Given the description of an element on the screen output the (x, y) to click on. 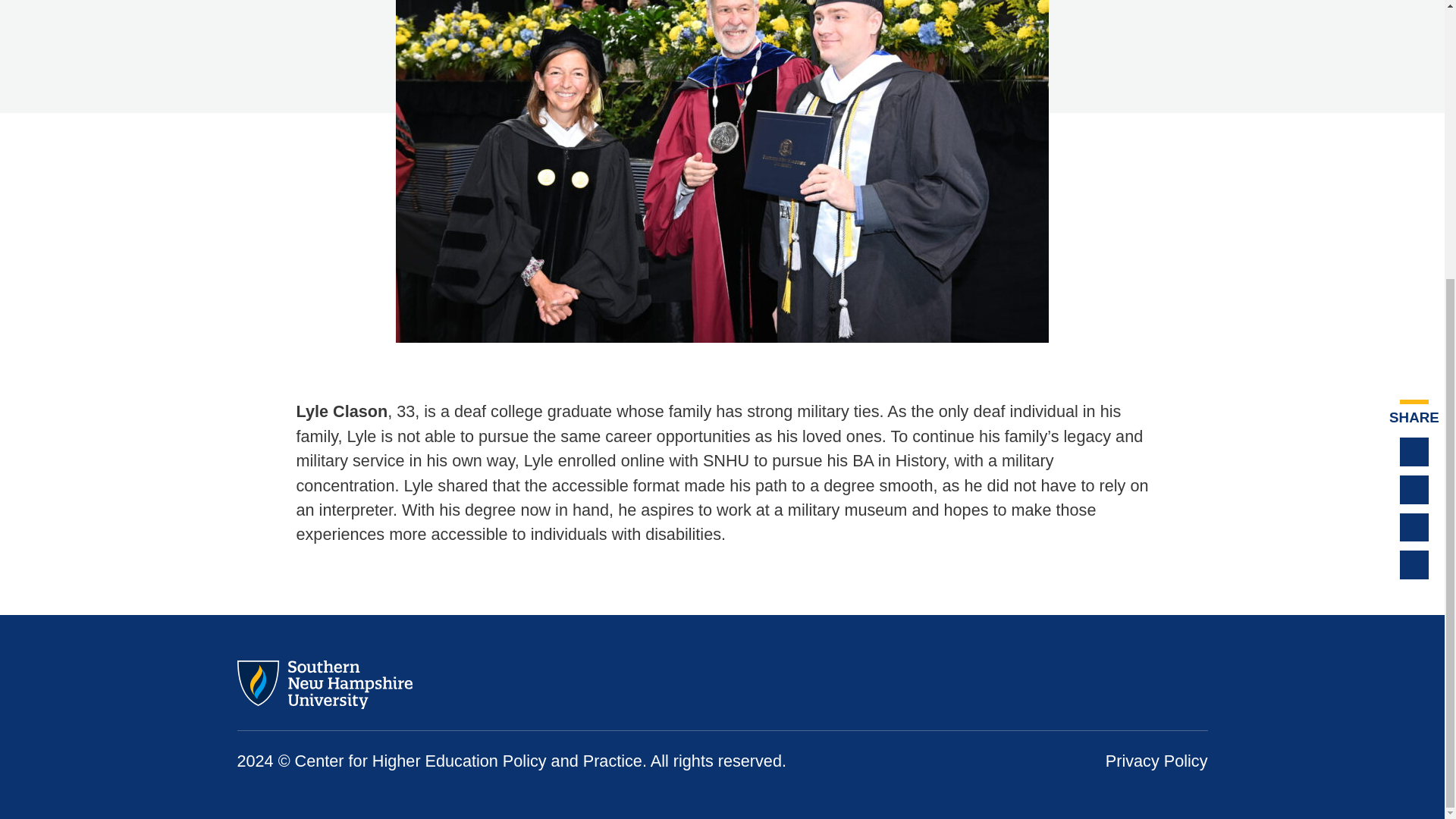
Twitter (1413, 451)
Facebook (1413, 489)
Privacy Policy (1156, 761)
LinkedIn (1413, 527)
Twitter (1142, 686)
LinkedIn (1194, 686)
Email (1413, 564)
